Given the description of an element on the screen output the (x, y) to click on. 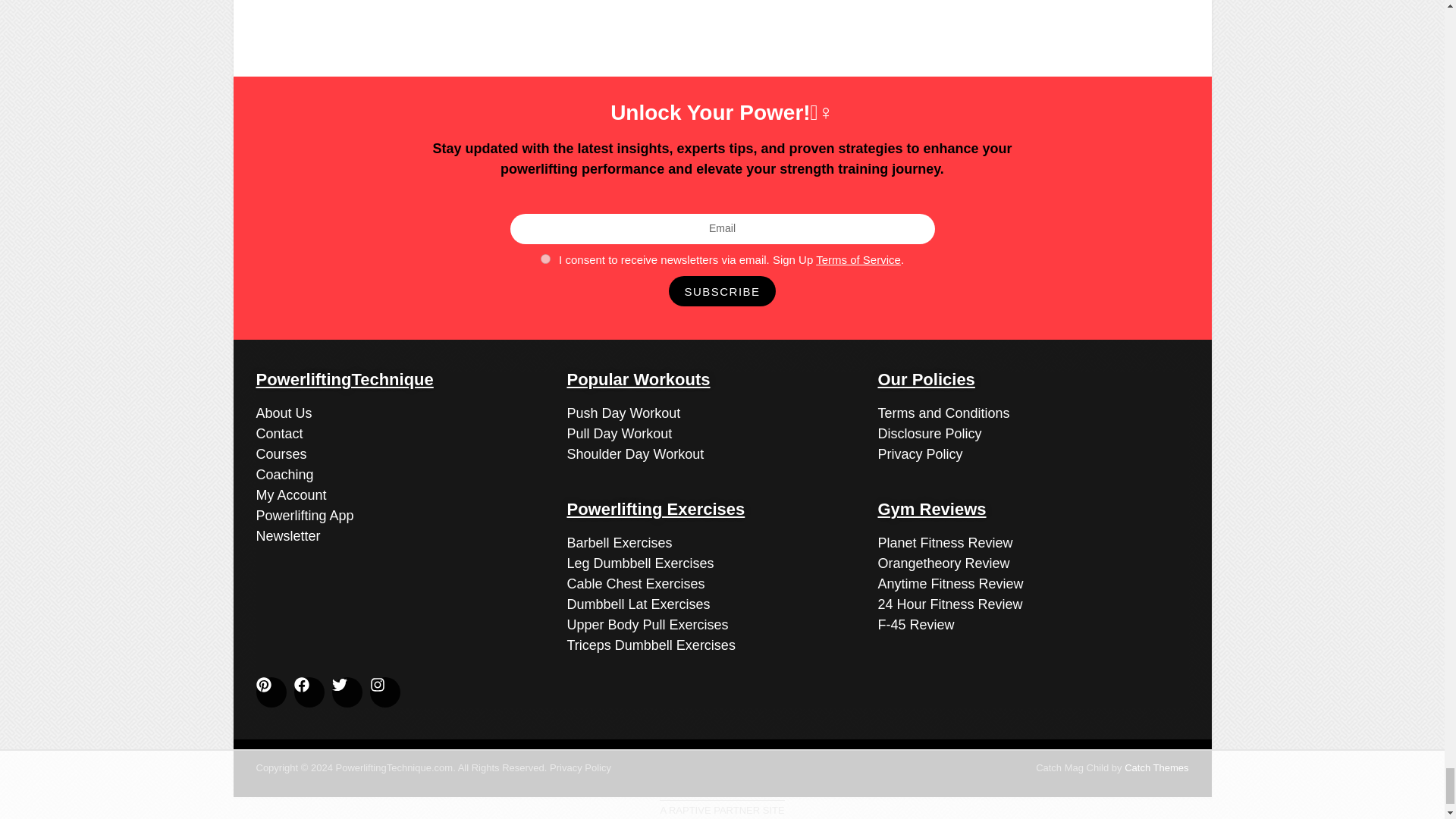
powerlifting technique newsletter (288, 535)
